Given the description of an element on the screen output the (x, y) to click on. 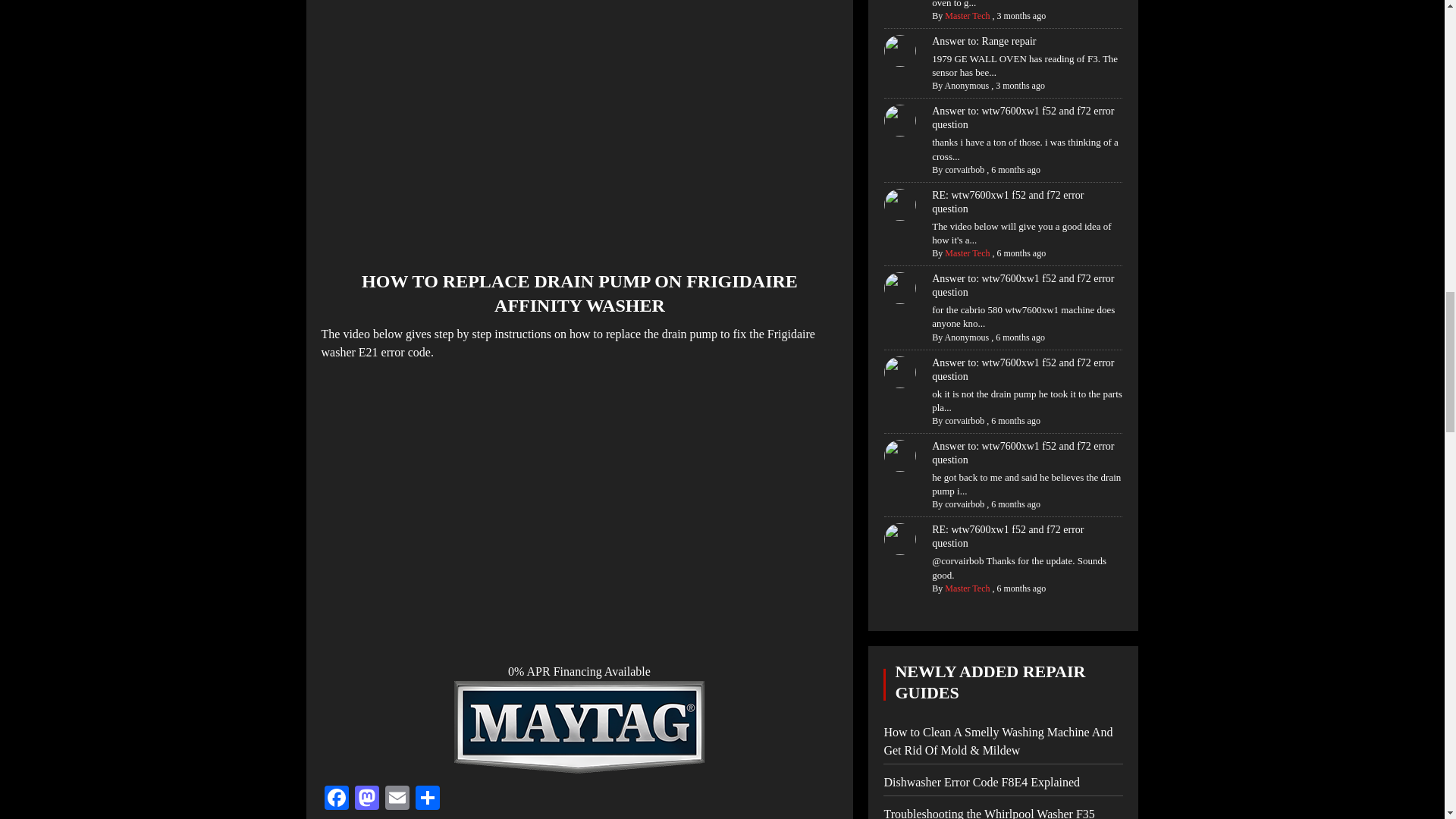
Anonymous (967, 85)
Master Tech (967, 253)
Email (396, 799)
corvairbob (964, 169)
Master Tech (967, 15)
Mastodon (366, 799)
Facebook (336, 799)
Anonymous (967, 337)
Email (396, 799)
corvairbob (964, 420)
Facebook (336, 799)
corvairbob (964, 503)
Mastodon (366, 799)
Master Tech (967, 588)
